Given the description of an element on the screen output the (x, y) to click on. 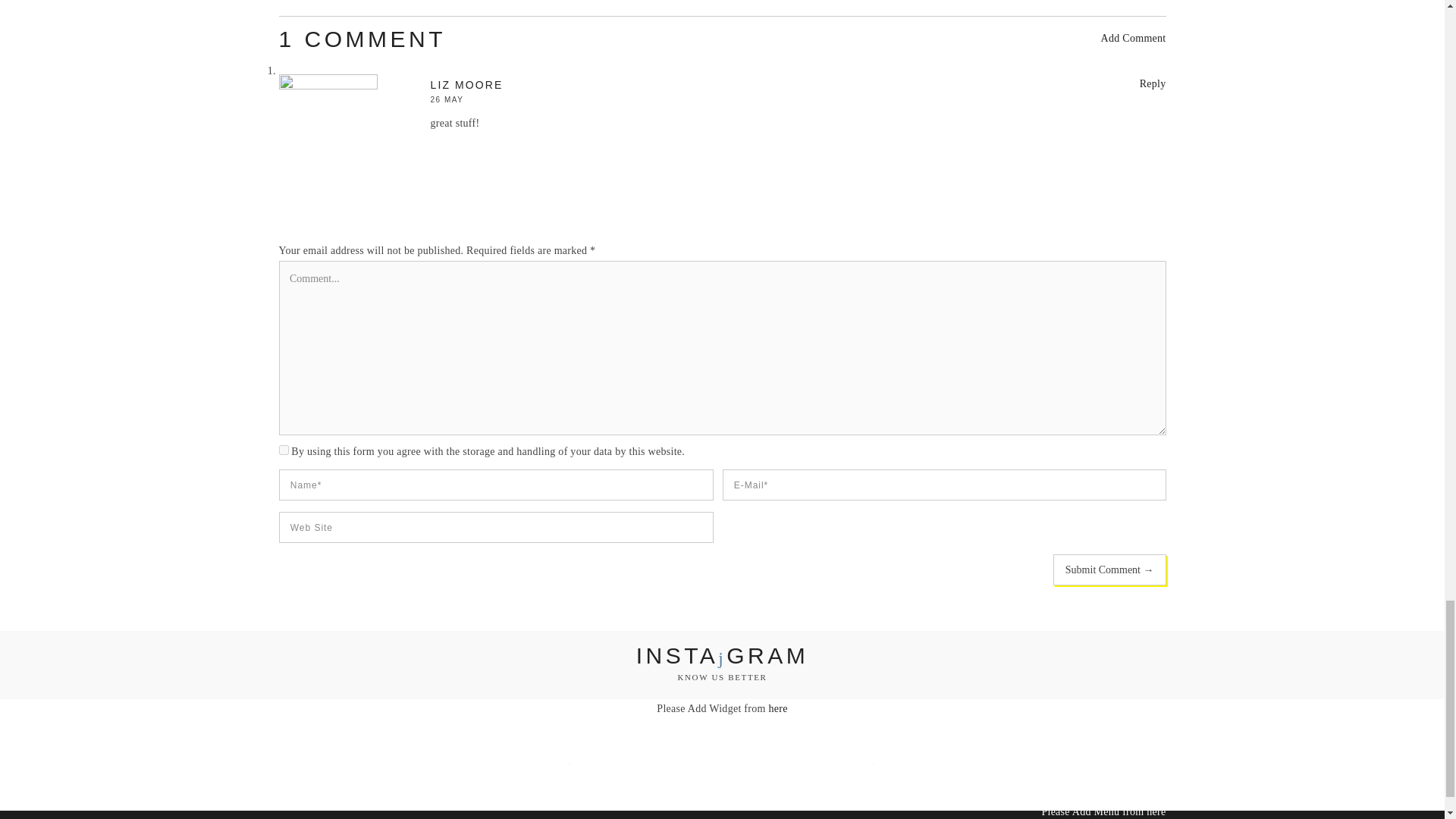
1 COMMENT (362, 38)
here (1156, 810)
Add Comment (1133, 38)
here (777, 708)
Reply (1153, 83)
privacy-key (283, 450)
